Given the description of an element on the screen output the (x, y) to click on. 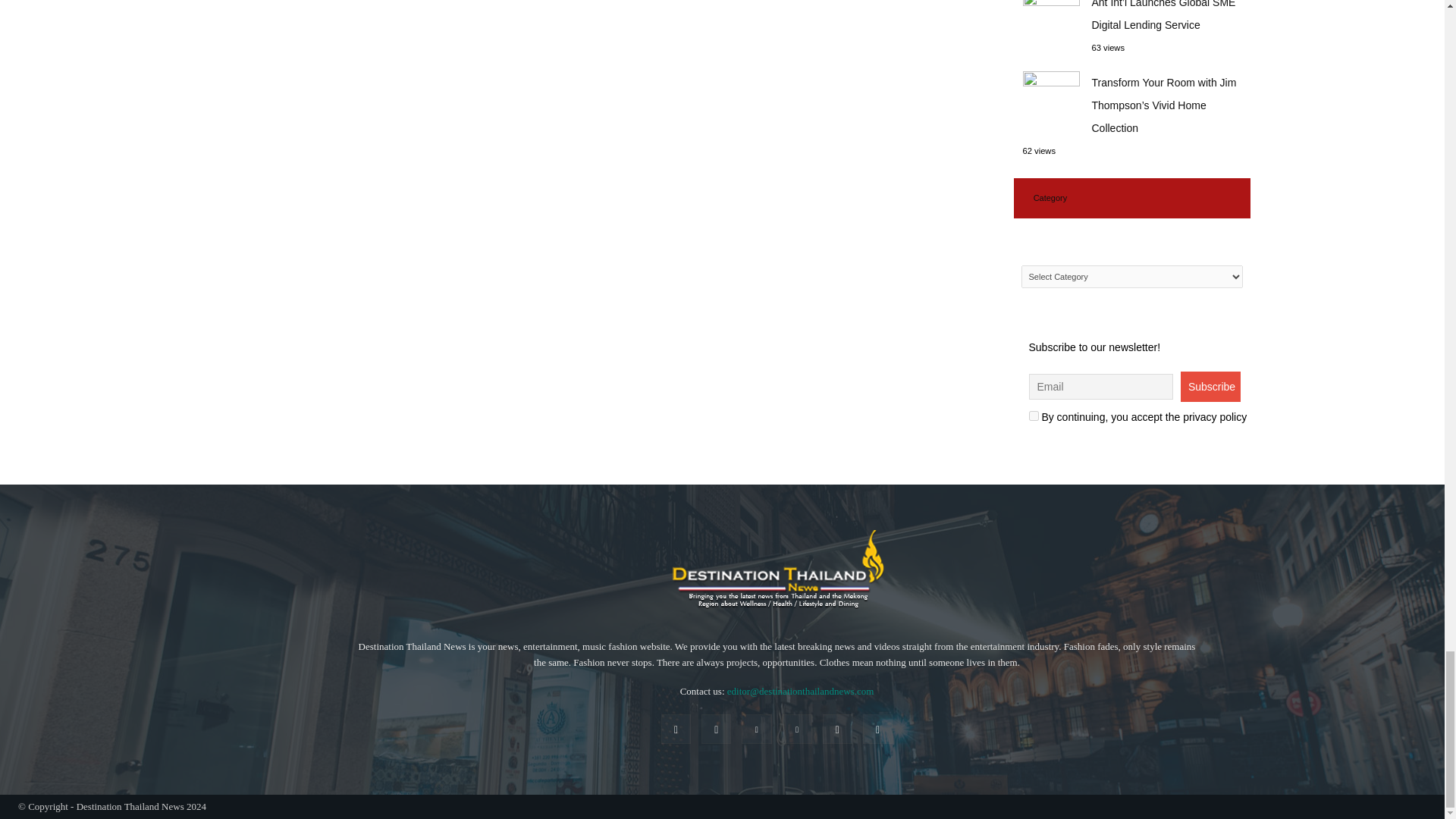
Subscribe (1210, 386)
on (1032, 415)
